Given the description of an element on the screen output the (x, y) to click on. 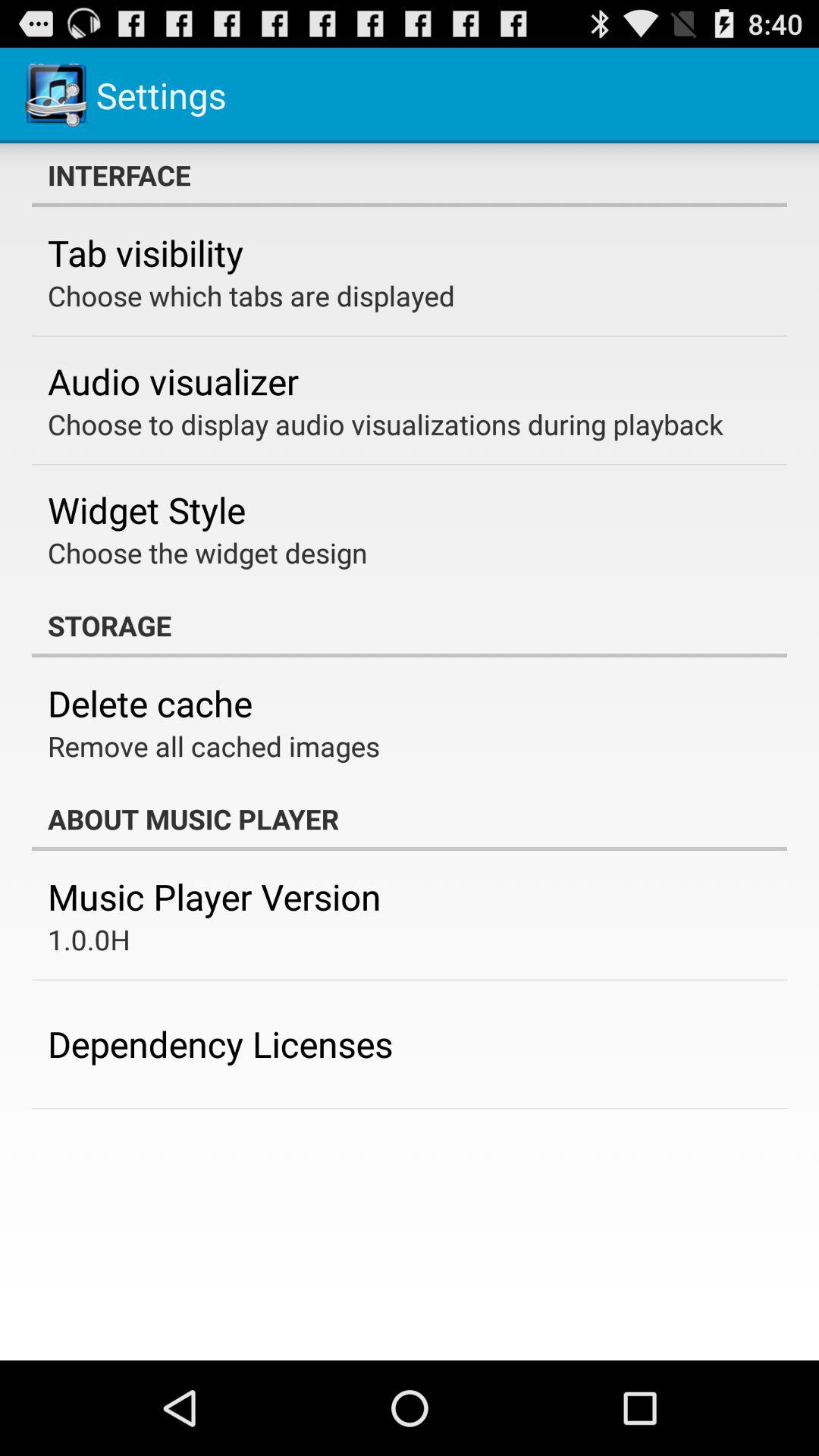
click dependency licenses (220, 1043)
